Given the description of an element on the screen output the (x, y) to click on. 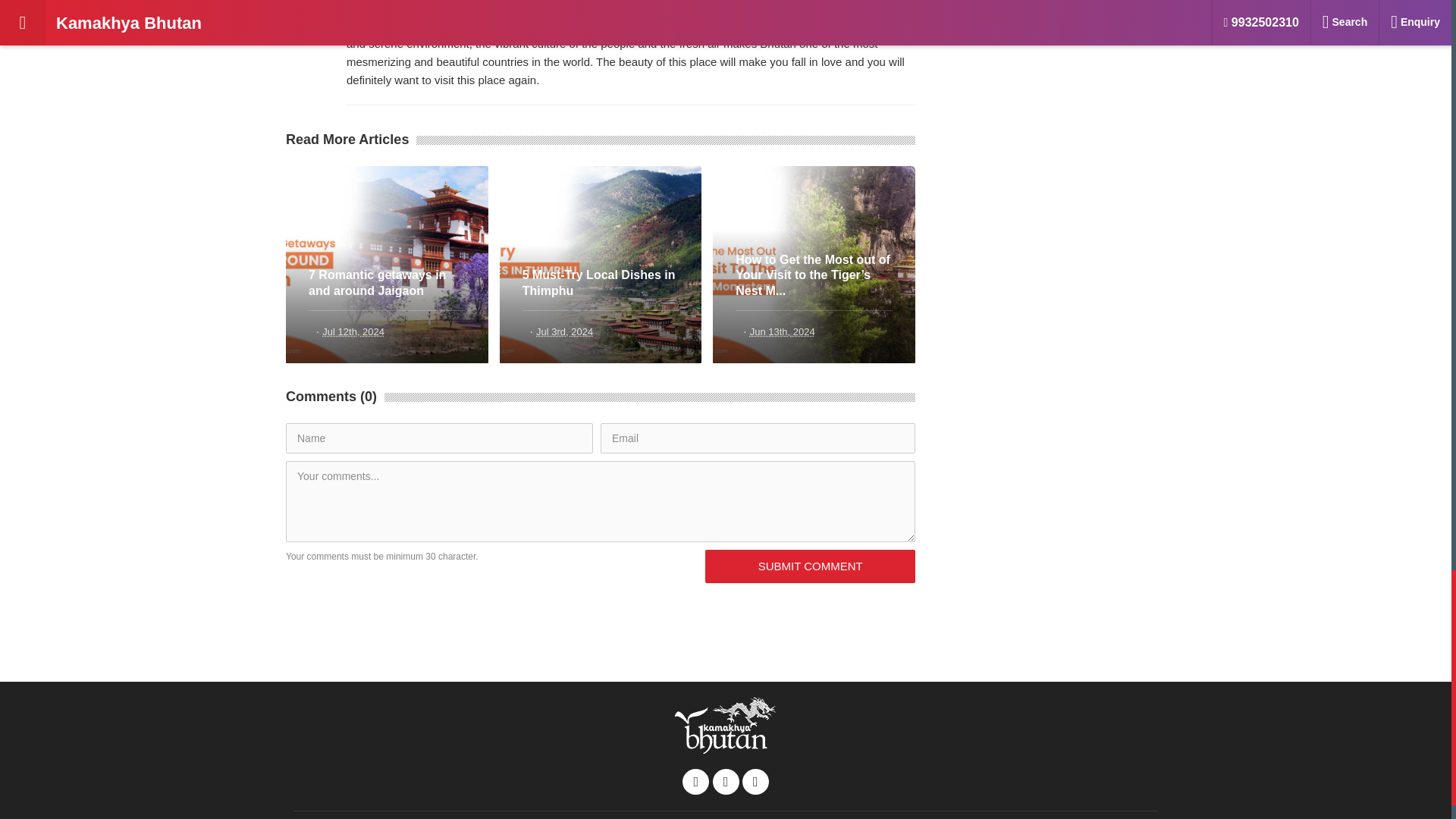
SUBMIT COMMENT (809, 566)
Jul 3rd, 2024 (563, 331)
Jun 13th, 2024 (782, 331)
Jul 12th, 2024 (352, 331)
